Given the description of an element on the screen output the (x, y) to click on. 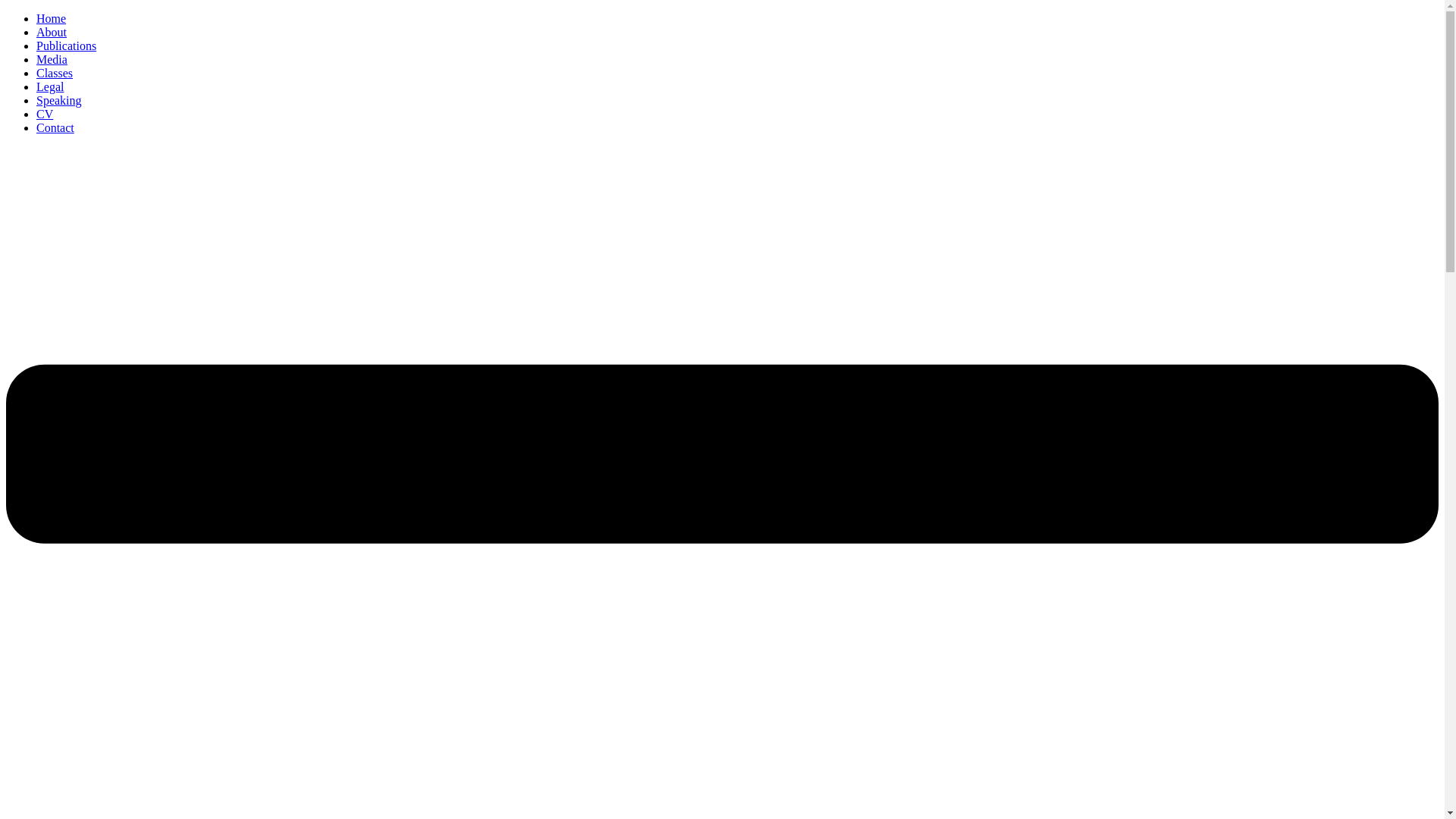
Speaking (58, 100)
Home (50, 18)
Legal (50, 86)
About (51, 31)
Classes (54, 72)
Media (51, 59)
Contact (55, 127)
CV (44, 113)
Publications (66, 45)
